Given the description of an element on the screen output the (x, y) to click on. 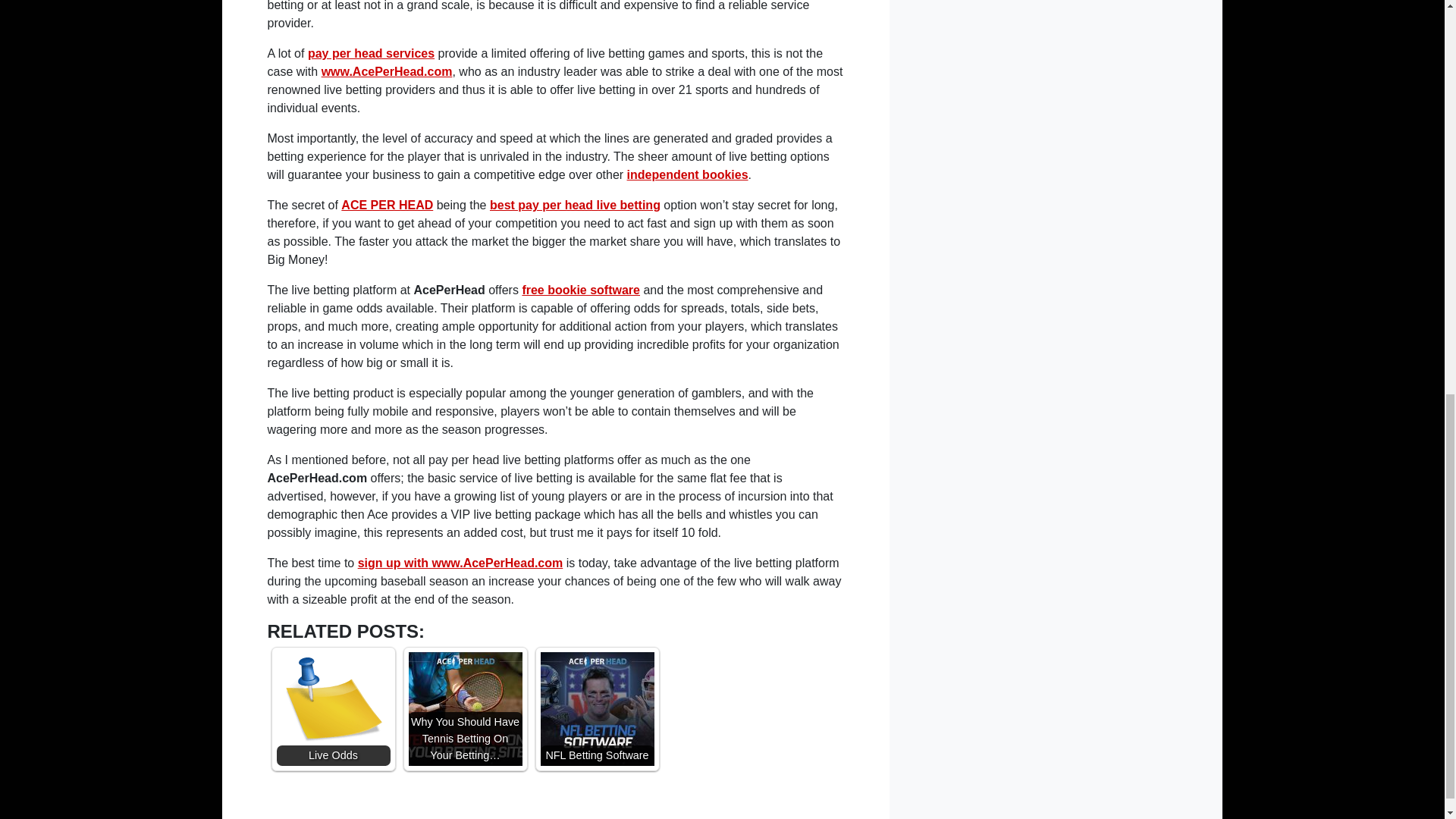
www.AcePerHead.com (386, 71)
free bookie software (580, 289)
Live Odds (333, 708)
independent bookies (687, 174)
ACE PER HEAD (386, 205)
pay per head services (370, 52)
best pay per head live betting (575, 205)
Live Odds (333, 708)
NFL Betting Software (596, 708)
